Given the description of an element on the screen output the (x, y) to click on. 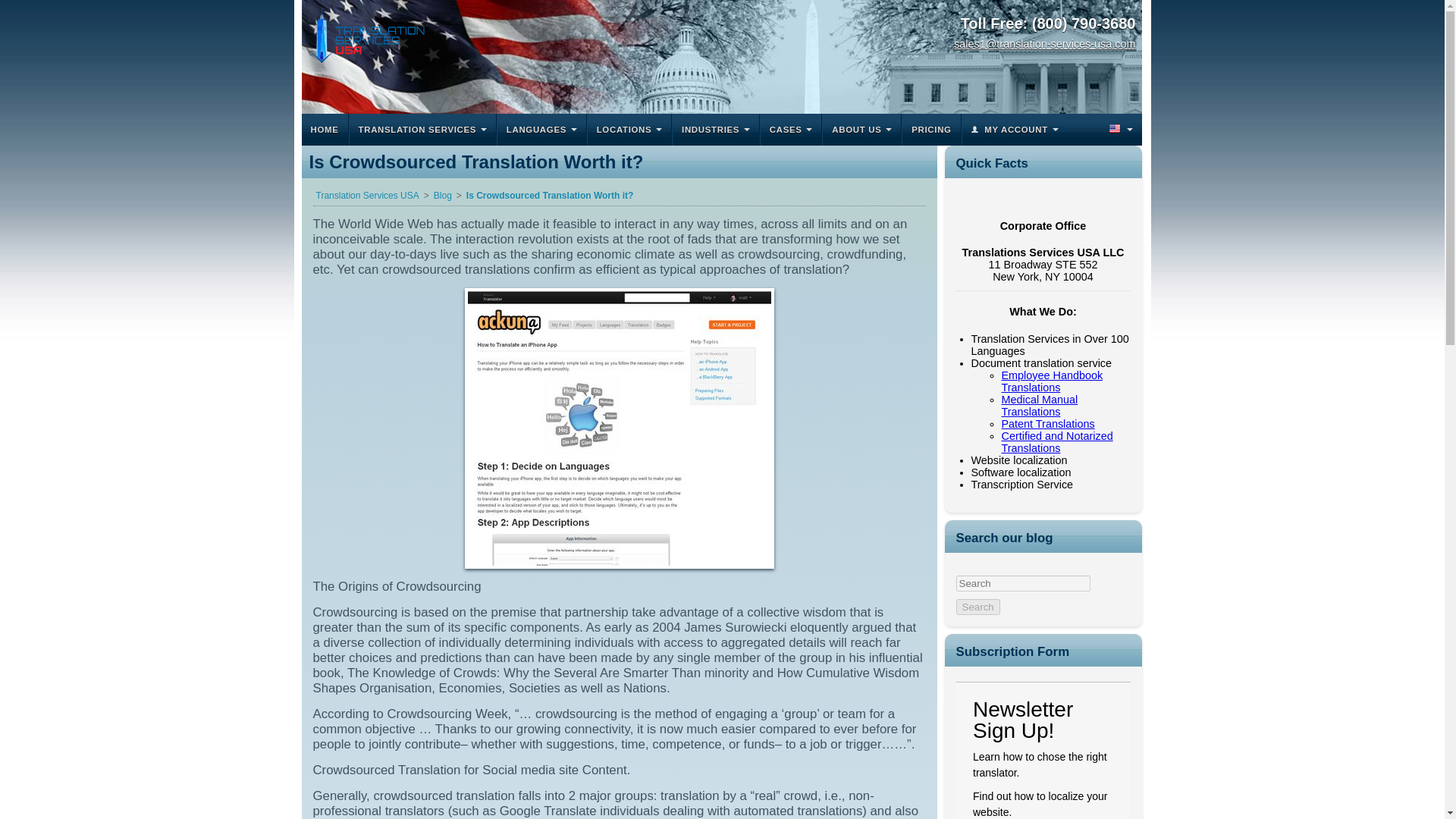
TRANSLATION SERVICES (422, 129)
HOME (325, 129)
Search (976, 606)
